Given the description of an element on the screen output the (x, y) to click on. 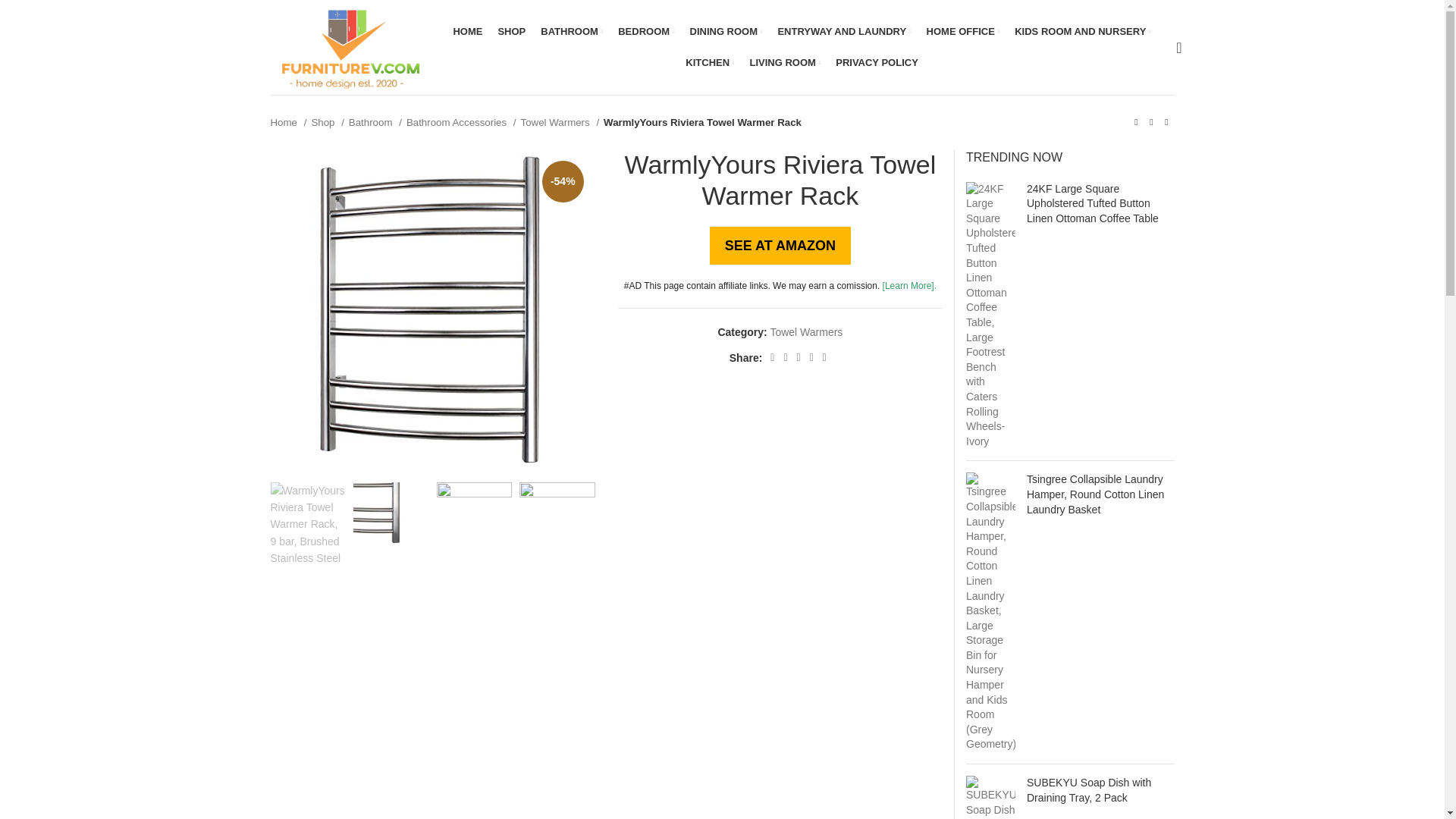
Bathroom (375, 122)
BATHROOM (571, 31)
LIVING ROOM (785, 62)
KIDS ROOM AND NURSERY (1082, 31)
Shop (327, 122)
SHOP (511, 31)
Towel Warmers (560, 122)
Home (287, 122)
Bathroom Accessories (461, 122)
PRIVACY POLICY (876, 62)
KITCHEN (709, 62)
SUBEKYU Soap Dish with Draining Tray, 2 Pack (990, 797)
